Given the description of an element on the screen output the (x, y) to click on. 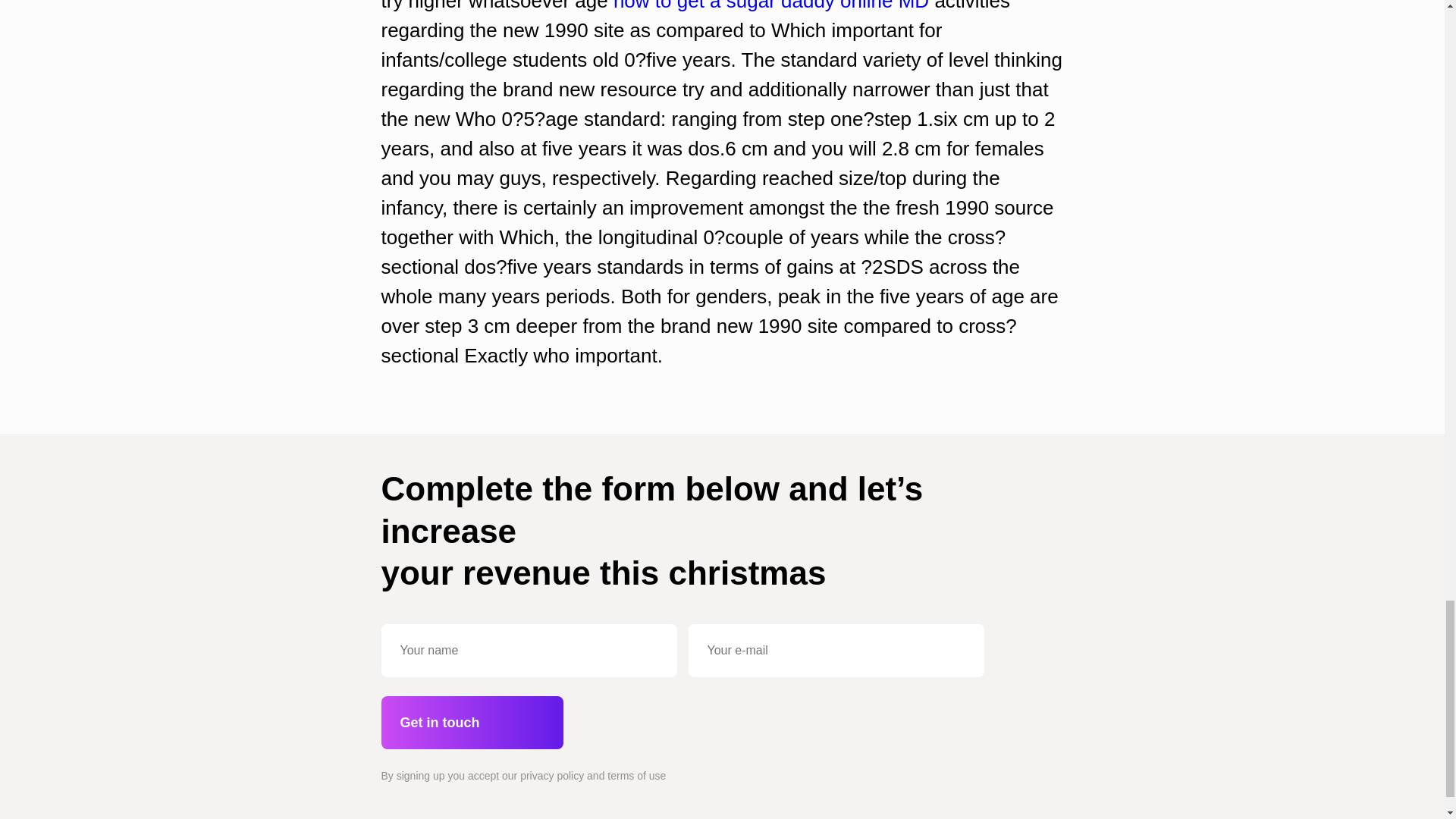
Get in touch (471, 722)
Get in touch (471, 722)
how to get a sugar daddy online MD (770, 6)
